Given the description of an element on the screen output the (x, y) to click on. 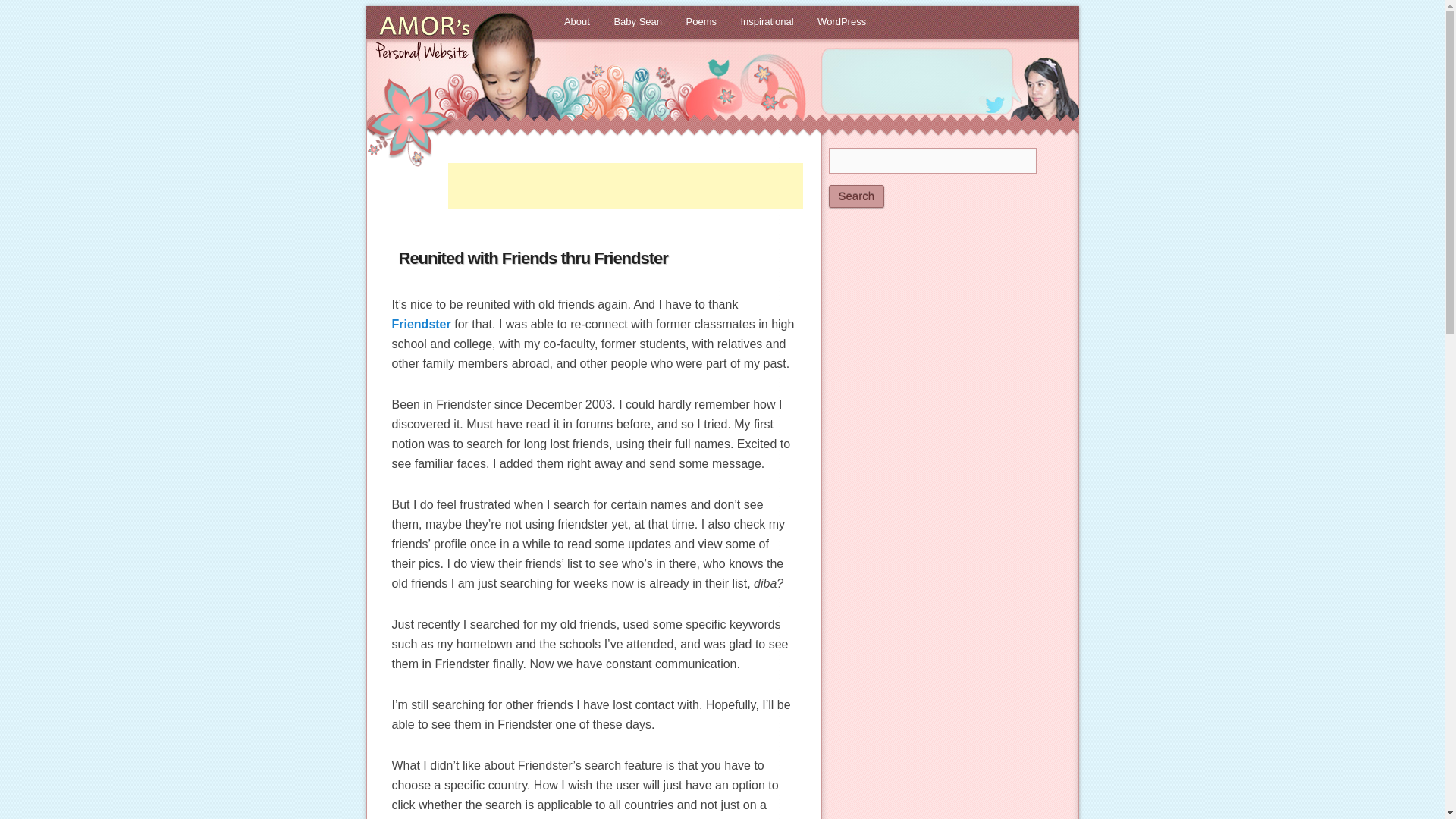
Inspirational Articles and Poems (767, 22)
Search (855, 196)
About Me (576, 22)
My Poems (701, 22)
Search (855, 196)
Poems (701, 22)
Inspirational (767, 22)
About (576, 22)
Advertisement (624, 185)
WordPress (841, 22)
